Given the description of an element on the screen output the (x, y) to click on. 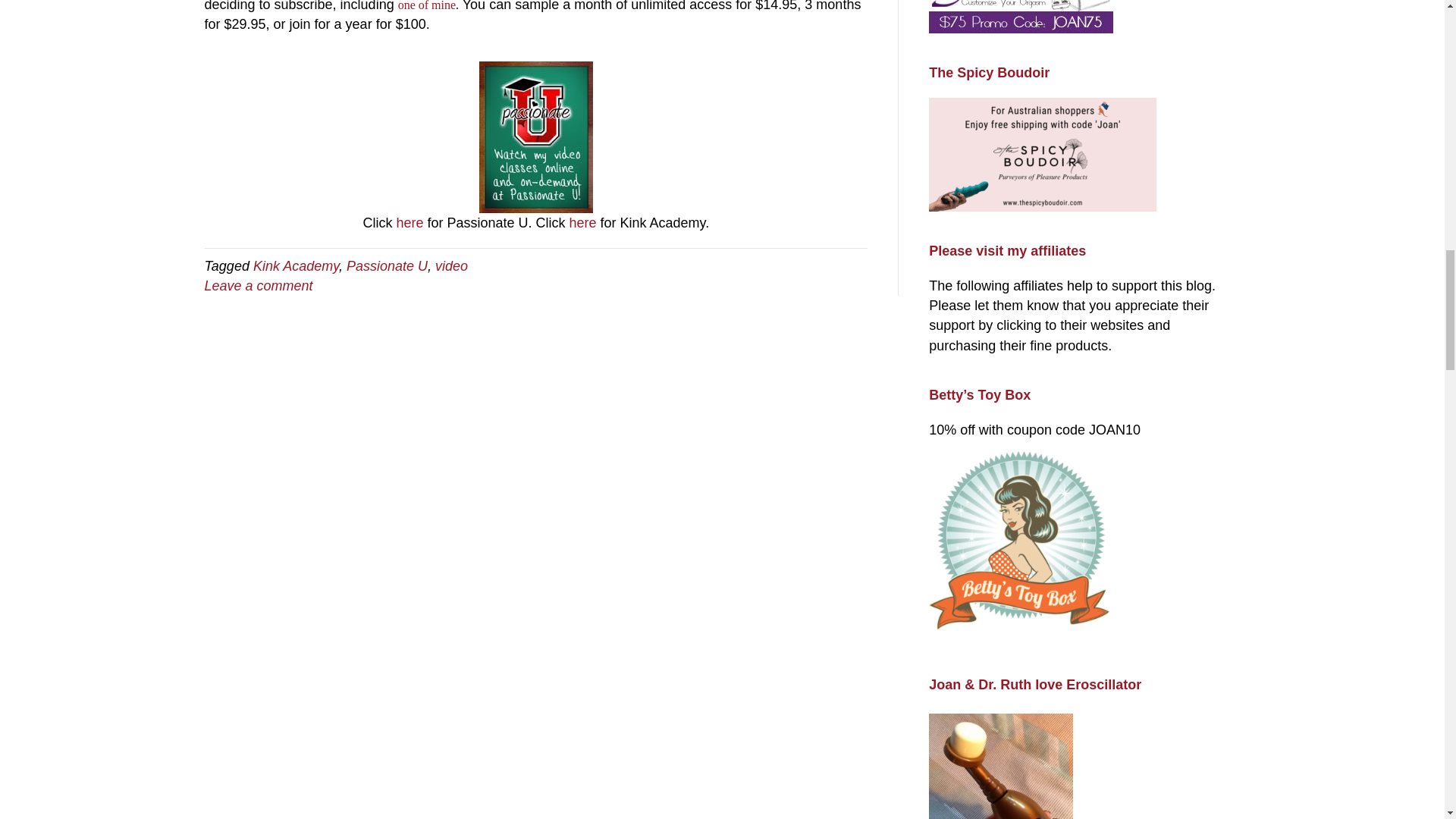
The Spicy Boudoir (1042, 154)
here (411, 222)
here (584, 222)
Kink Academy (296, 265)
one of mine (426, 5)
